Given the description of an element on the screen output the (x, y) to click on. 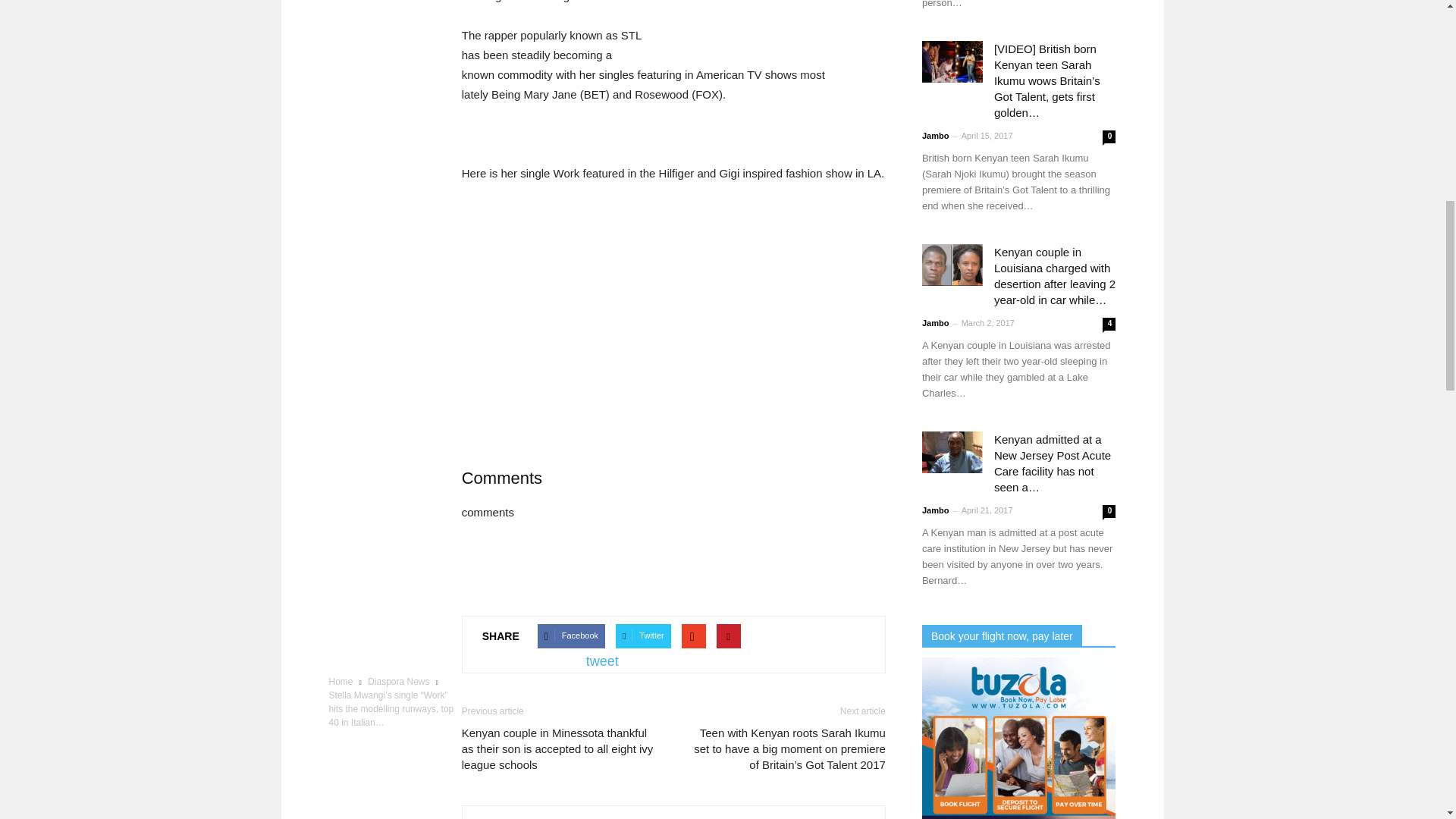
View all posts in Diaspora News (400, 681)
